Given the description of an element on the screen output the (x, y) to click on. 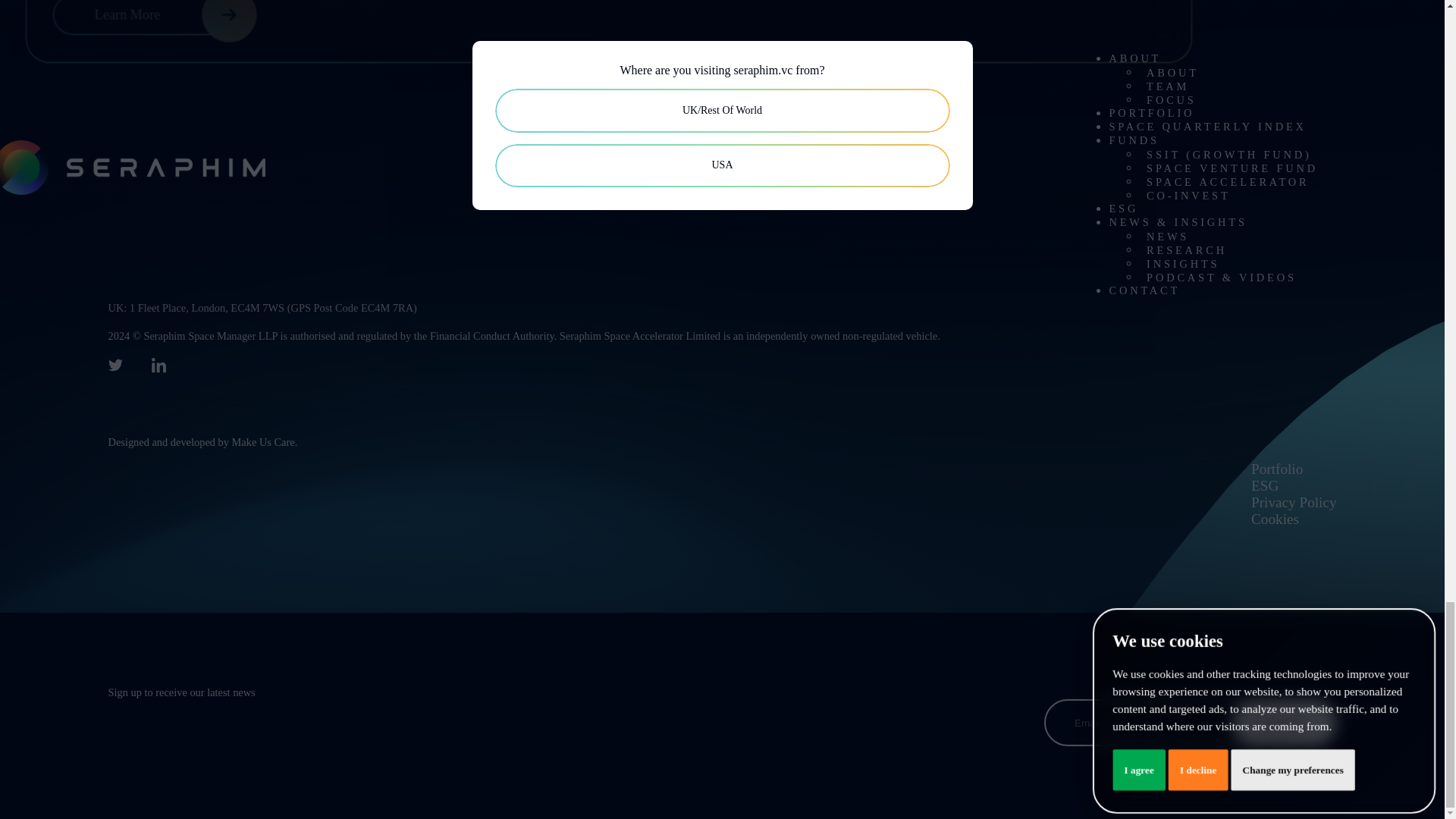
Subscribe (1283, 722)
Privacy Policy (1293, 502)
Portfolio (1276, 469)
Make Us Care (263, 441)
Cookies (1274, 519)
ESG (1264, 485)
Learn More (159, 18)
Subscribe (1283, 722)
